Given the description of an element on the screen output the (x, y) to click on. 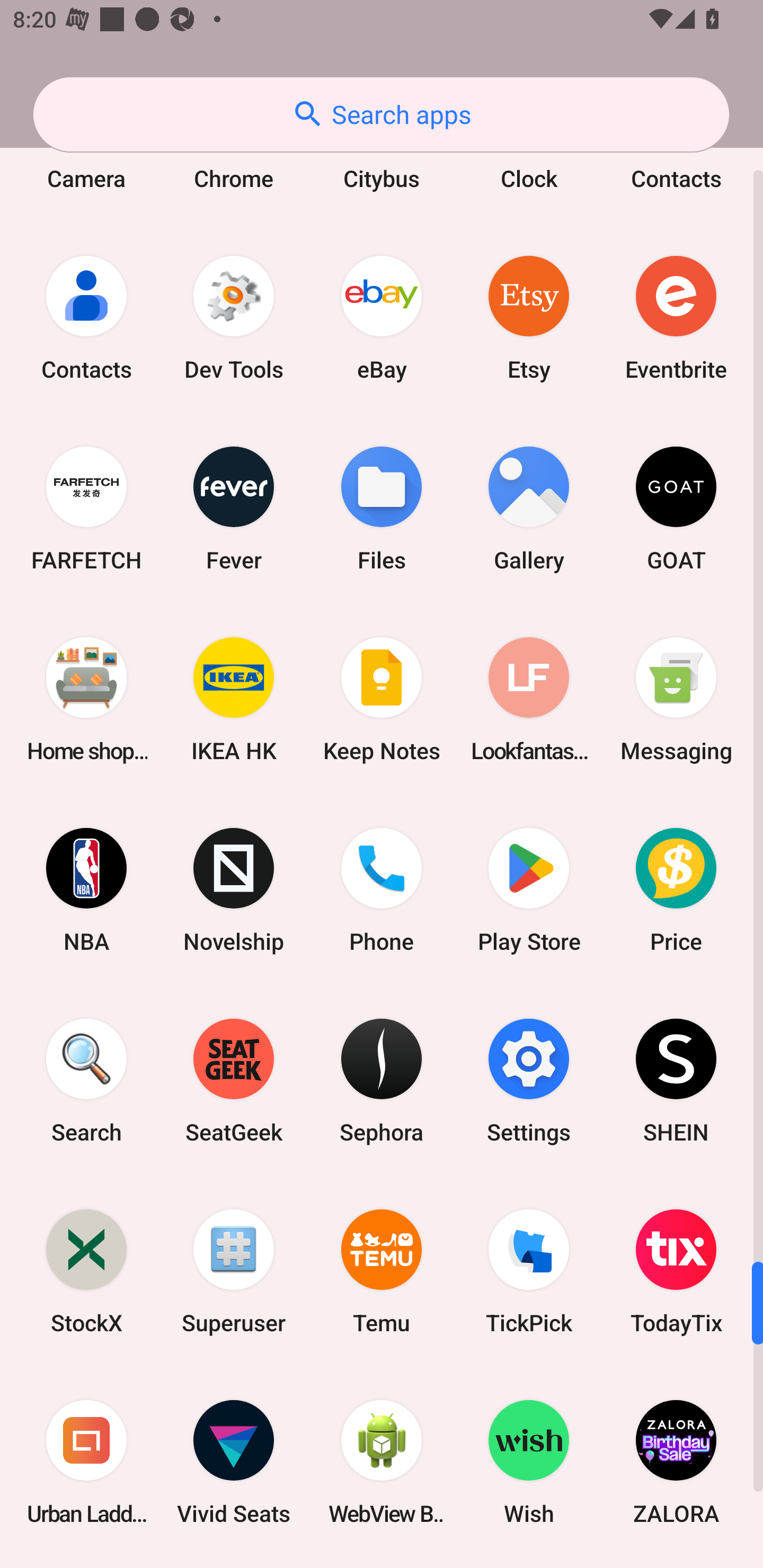
  Search apps (381, 114)
Contacts (86, 317)
Dev Tools (233, 317)
eBay (381, 317)
Etsy (528, 317)
Eventbrite (676, 317)
FARFETCH (86, 508)
Fever (233, 508)
Files (381, 508)
Gallery (528, 508)
GOAT (676, 508)
Home shopping (86, 698)
IKEA HK (233, 698)
Keep Notes (381, 698)
Lookfantastic (528, 698)
Messaging (676, 698)
NBA (86, 889)
Novelship (233, 889)
Phone (381, 889)
Play Store (528, 889)
Price (676, 889)
Search (86, 1080)
SeatGeek (233, 1080)
Sephora (381, 1080)
Settings (528, 1080)
SHEIN (676, 1080)
StockX (86, 1271)
Superuser (233, 1271)
Temu (381, 1271)
TickPick (528, 1271)
TodayTix (676, 1271)
Urban Ladder (86, 1462)
Vivid Seats (233, 1462)
WebView Browser Tester (381, 1462)
Wish (528, 1462)
ZALORA (676, 1462)
